Given the description of an element on the screen output the (x, y) to click on. 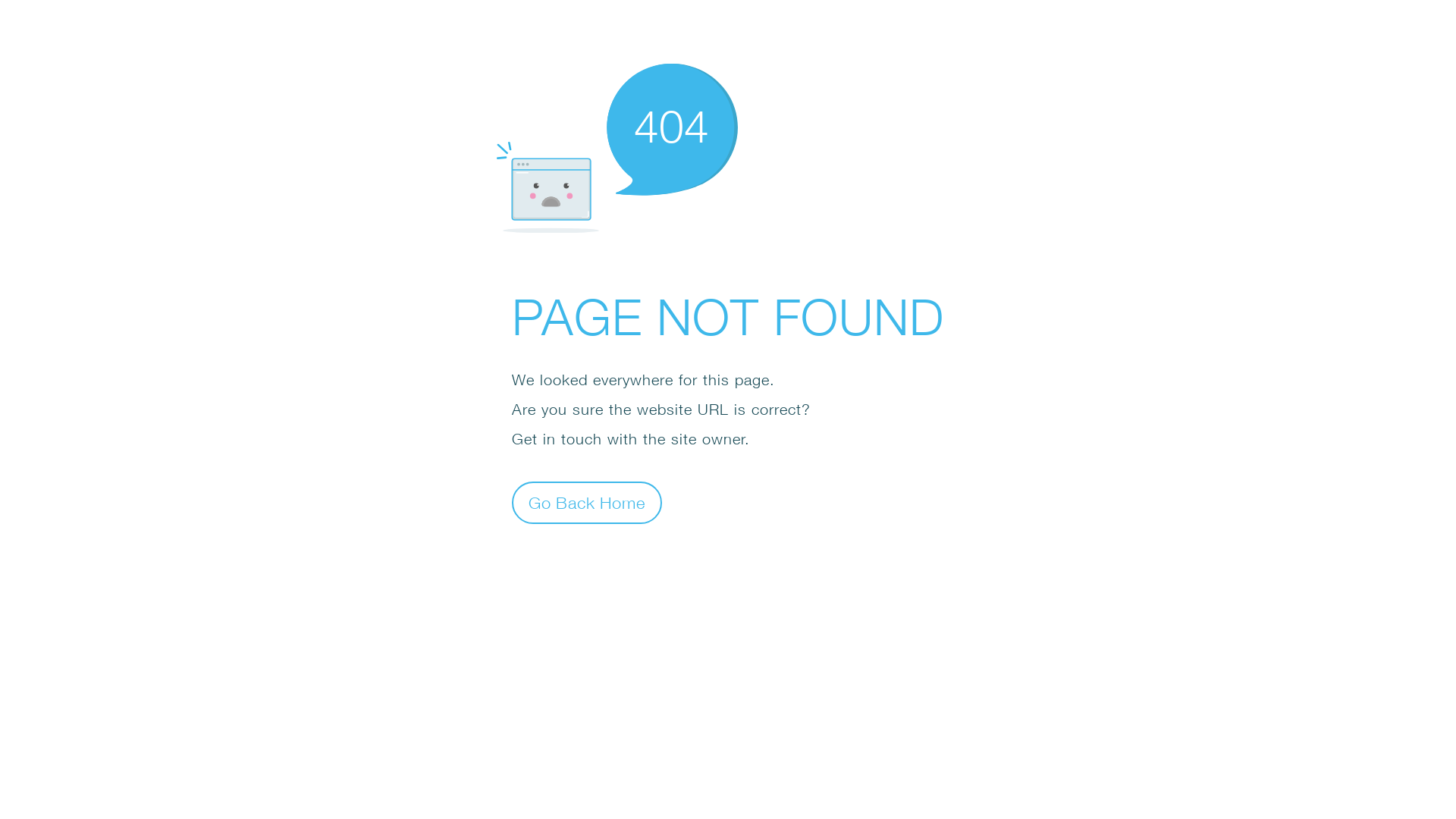
Go Back Home Element type: text (586, 502)
